Given the description of an element on the screen output the (x, y) to click on. 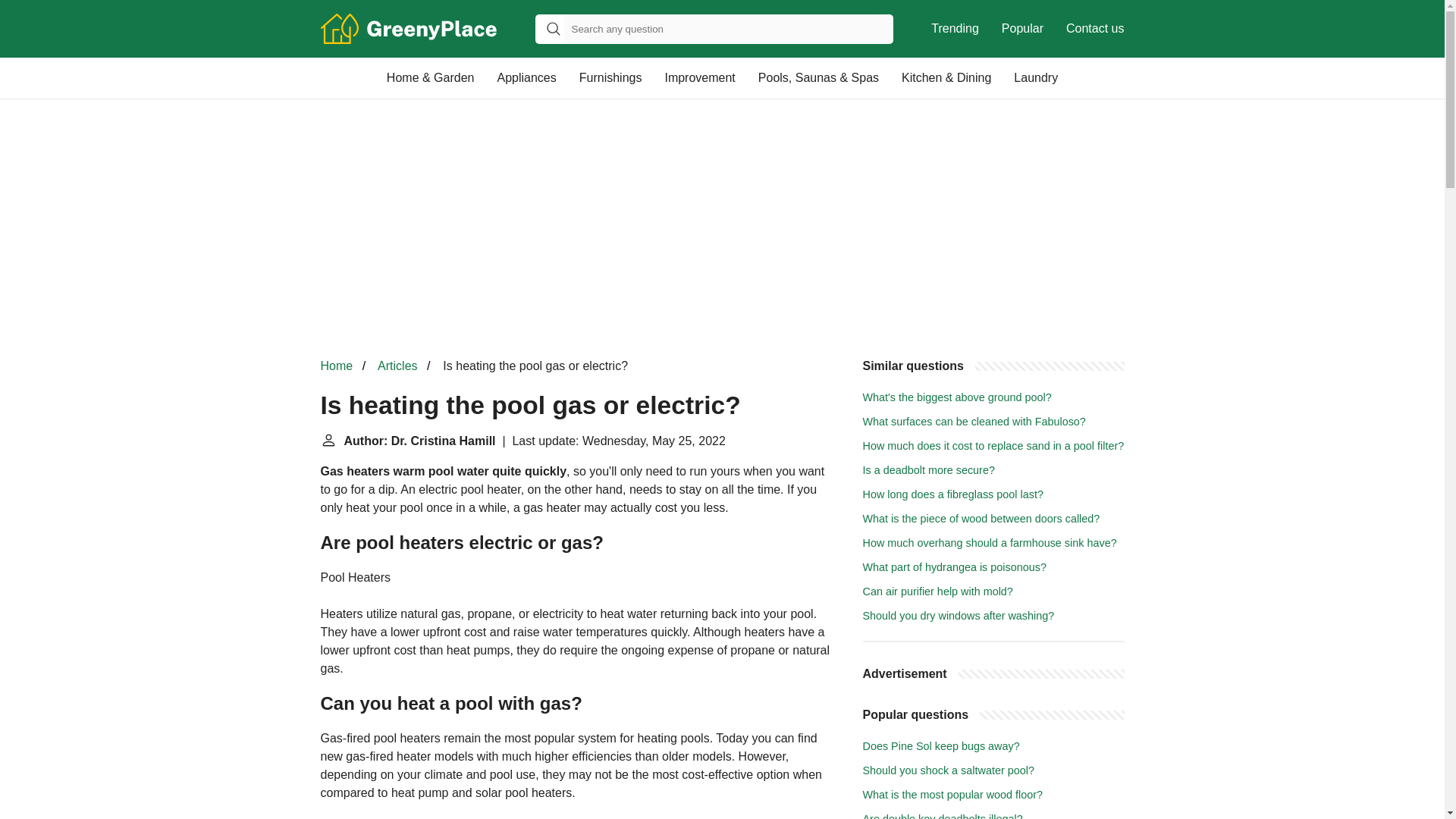
What is the most popular wood floor? (953, 794)
Home (336, 365)
What part of hydrangea is poisonous? (954, 567)
Contact us (1094, 28)
Articles (396, 365)
Popular (1022, 28)
Improvement (698, 77)
Furnishings (610, 77)
What surfaces can be cleaned with Fabuloso? (974, 421)
Is a deadbolt more secure? (928, 469)
What is the piece of wood between doors called? (981, 518)
Does Pine Sol keep bugs away? (941, 746)
Can air purifier help with mold? (938, 591)
How long does a fibreglass pool last? (953, 494)
Trending (954, 28)
